Given the description of an element on the screen output the (x, y) to click on. 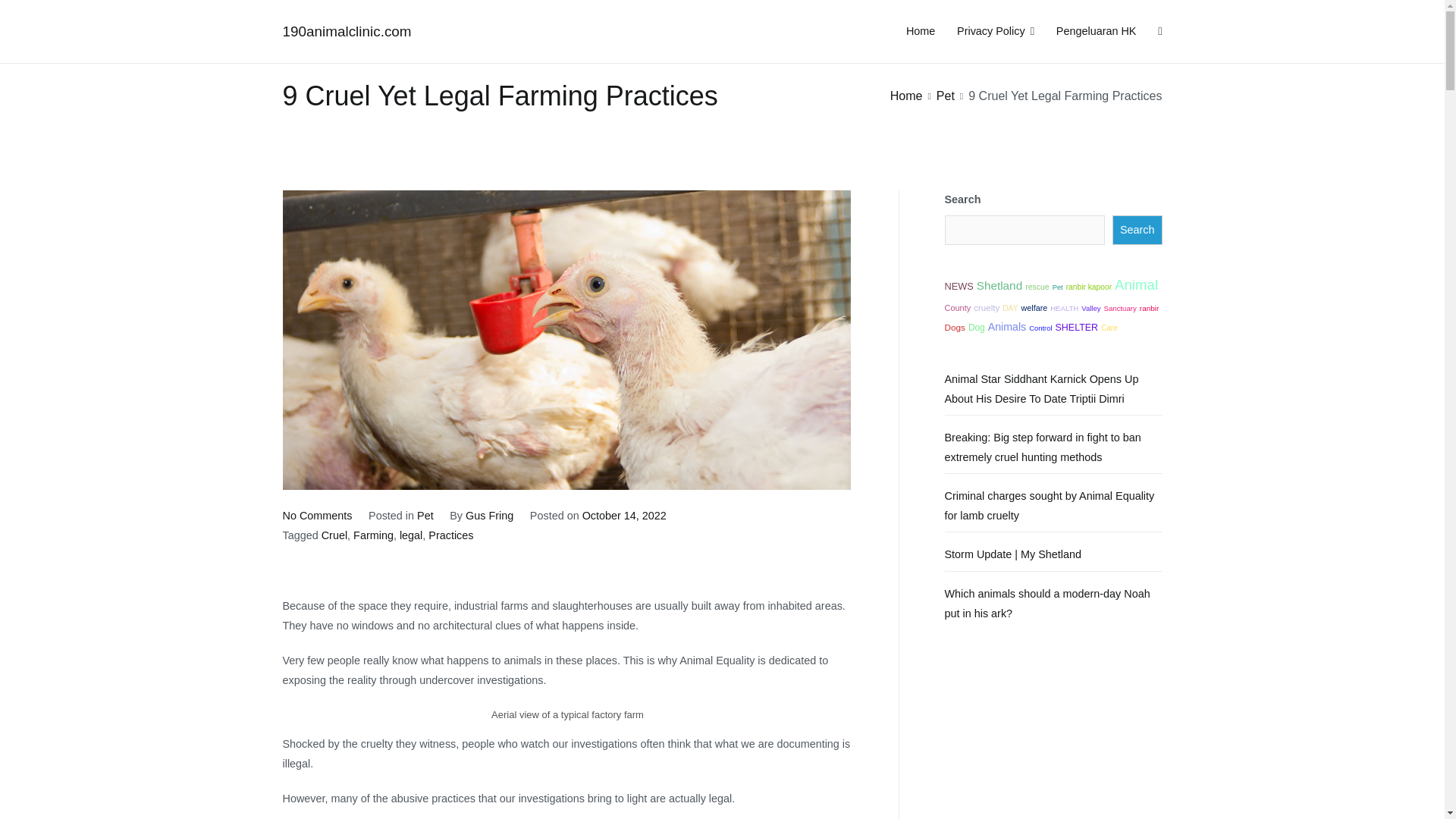
Farming (373, 535)
Cruel (334, 535)
legal (410, 535)
Pet (945, 95)
Search (28, 13)
Pet (424, 515)
190animalclinic.com (346, 31)
Gus Fring (489, 515)
Home (906, 95)
Pet (1057, 287)
